Given the description of an element on the screen output the (x, y) to click on. 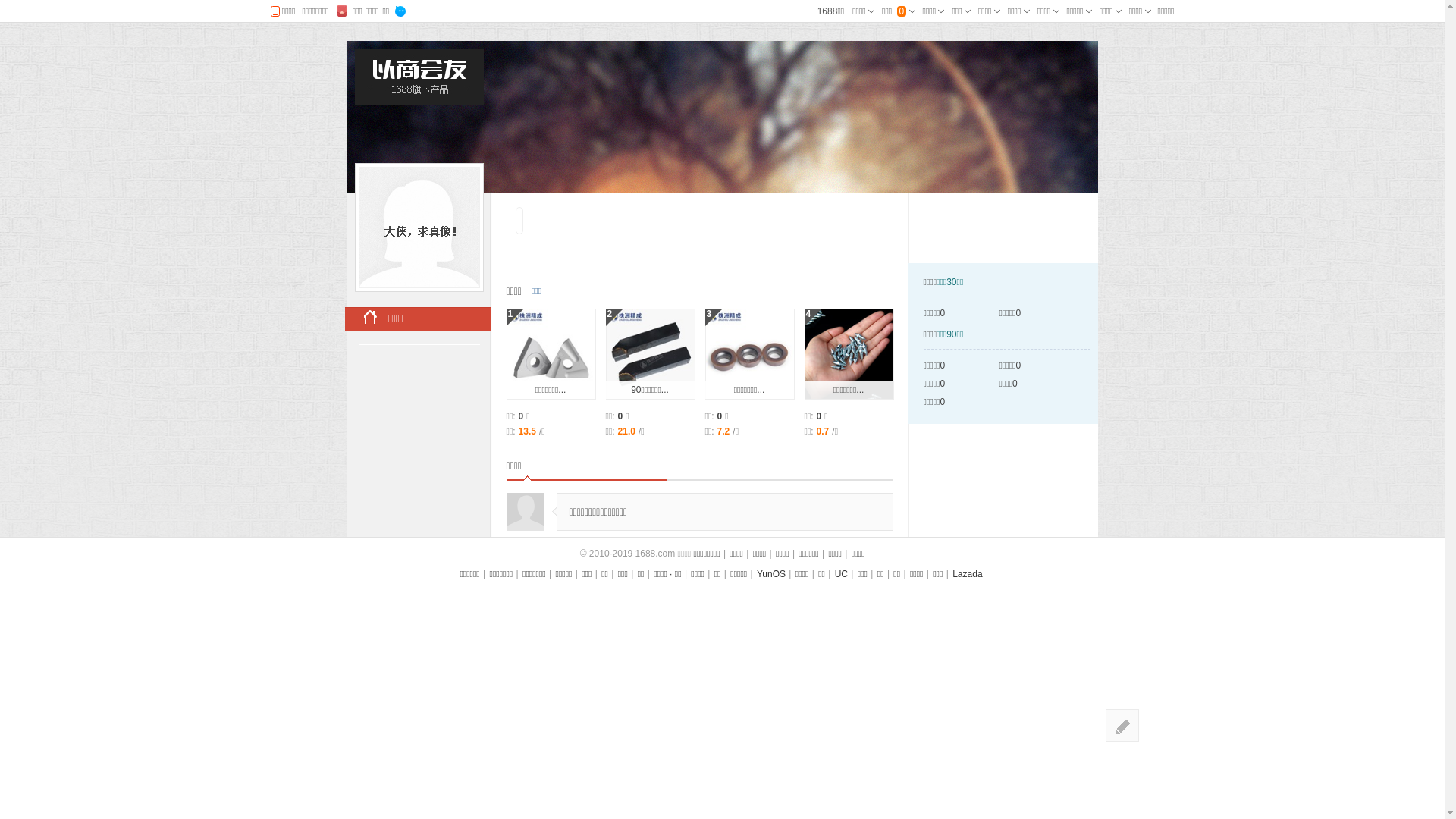
UC Element type: text (840, 573)
YunOS Element type: text (770, 573)
chenyanshuang01 Element type: hover (418, 227)
Lazada Element type: text (967, 573)
